Given the description of an element on the screen output the (x, y) to click on. 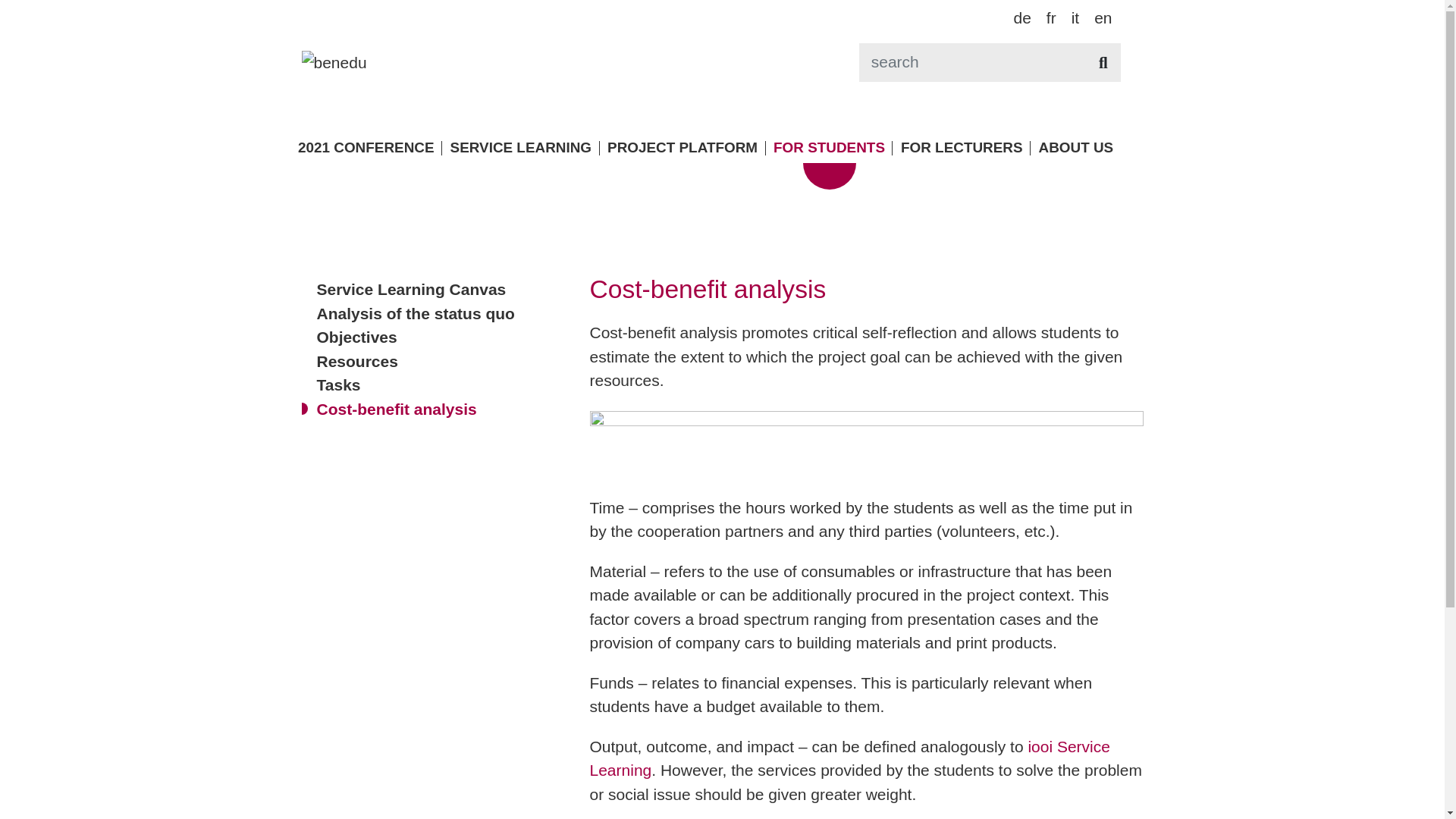
PROJECT PLATFORM Element type: text (682, 147)
2021 CONFERENCE Element type: text (365, 147)
FOR STUDENTS Element type: text (829, 147)
Analysis of the status quo Element type: text (415, 313)
en Element type: text (1102, 17)
de Element type: text (1021, 17)
fr Element type: text (1050, 17)
Resources Element type: text (357, 361)
Service Learning Canvas Element type: text (411, 289)
ABOUT US Element type: text (1075, 147)
search Element type: text (1102, 62)
it Element type: text (1075, 17)
FOR LECTURERS Element type: text (961, 147)
iooi Service Learning Element type: text (849, 758)
Cost-benefit analysis Element type: text (396, 408)
Objectives Element type: text (356, 336)
SERVICE LEARNING Element type: text (520, 147)
Tasks Element type: text (338, 384)
